Given the description of an element on the screen output the (x, y) to click on. 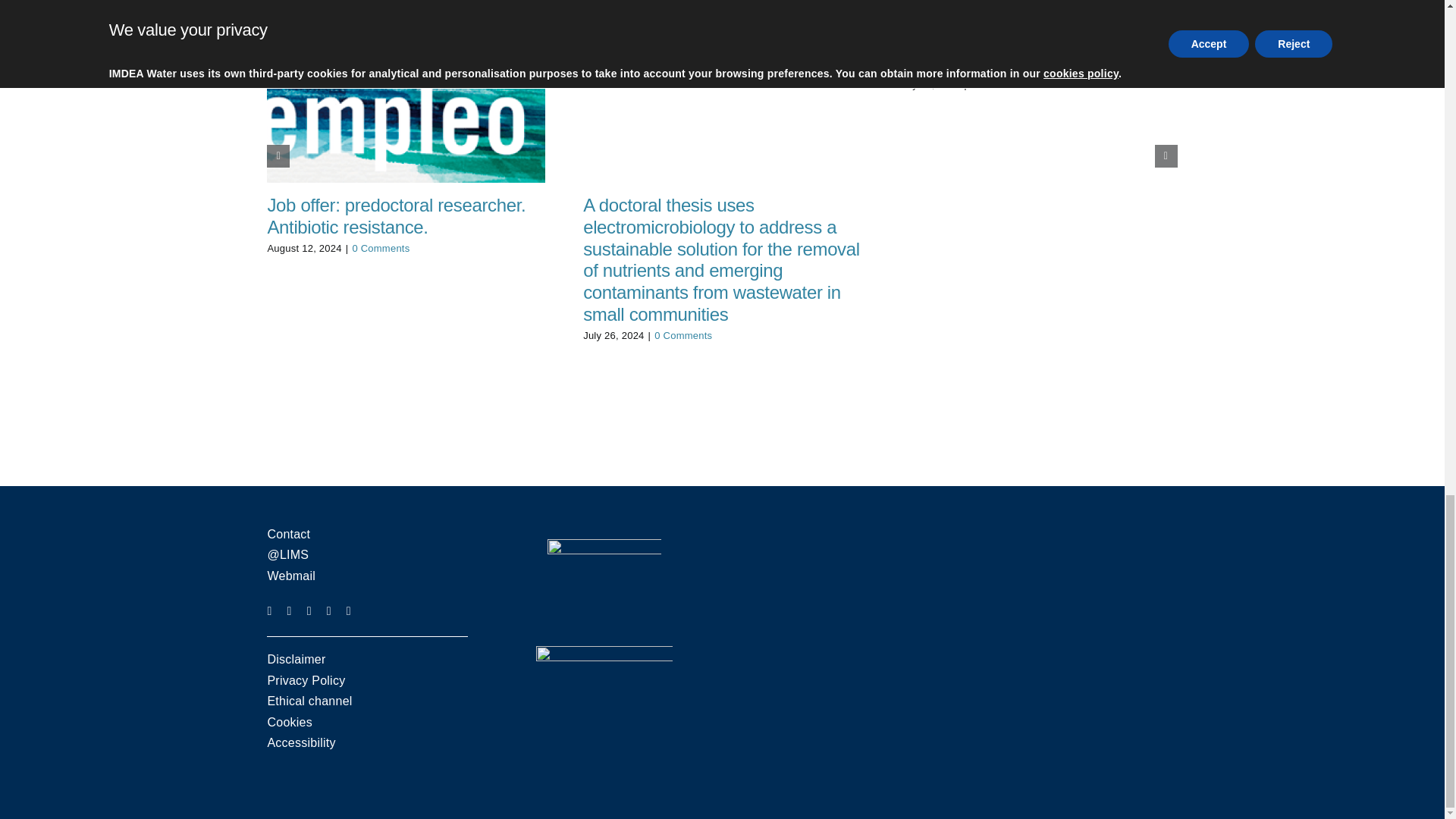
Job offer: predoctoral researcher. Antibiotic resistance. (395, 215)
